Given the description of an element on the screen output the (x, y) to click on. 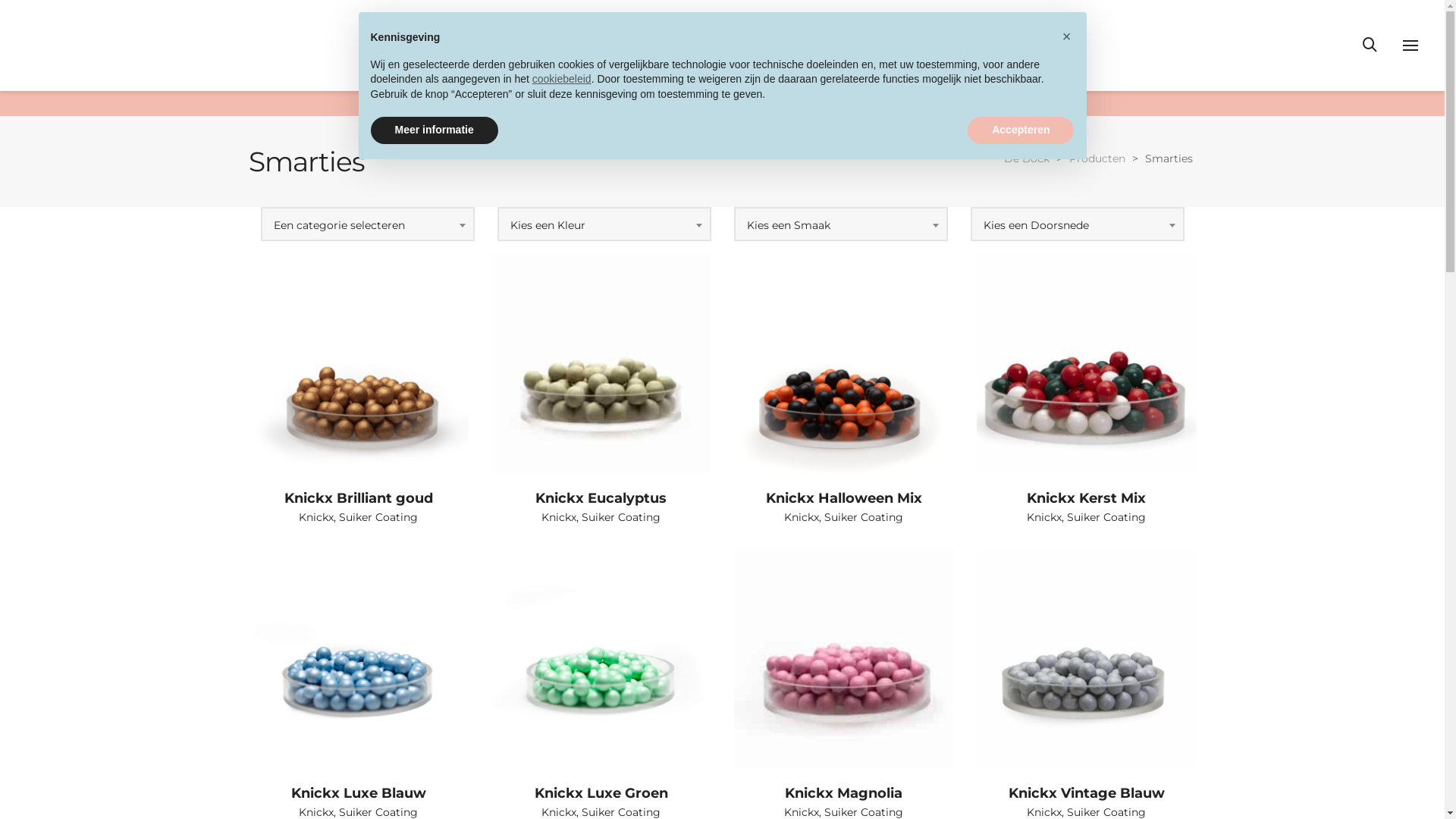
Knickx Element type: text (1043, 517)
Producten Element type: text (1097, 158)
Knickx Luxe Blauw Element type: text (358, 792)
Knickx Kerst Mix Element type: text (1085, 497)
Suiker Coating Element type: text (377, 517)
Knickx Brilliant goud Element type: text (357, 497)
Suiker Coating Element type: text (620, 517)
De Bock Element type: text (1026, 158)
Knickx Element type: text (315, 517)
Meer informatie Element type: text (433, 130)
Knickx Eucalyptus Element type: text (600, 497)
Knickx Element type: text (801, 517)
Knickx Vintage Blauw Element type: text (1086, 792)
Knickx Element type: text (558, 517)
Suiker Coating Element type: text (863, 517)
Accepteren Element type: text (1020, 130)
Knickx Halloween Mix Element type: text (843, 497)
Knickx Luxe Groen Element type: text (600, 792)
cookiebeleid Element type: text (561, 78)
Suiker Coating Element type: text (1105, 517)
Knickx Magnolia Element type: text (843, 792)
Menu Element type: text (1410, 46)
